Given the description of an element on the screen output the (x, y) to click on. 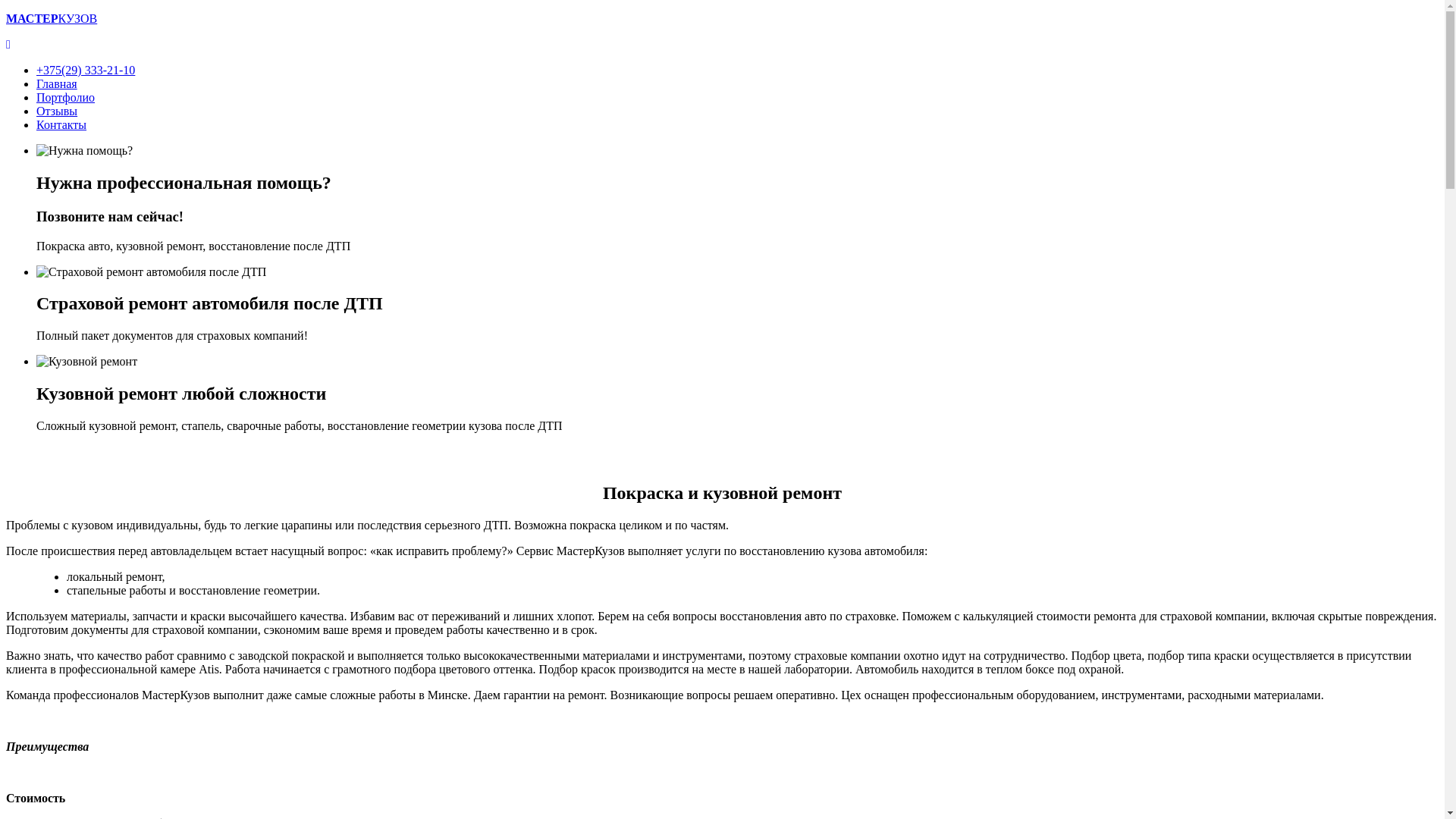
+375(29) 333-21-10 Element type: text (85, 69)
Main Menu Element type: hover (8, 43)
